Given the description of an element on the screen output the (x, y) to click on. 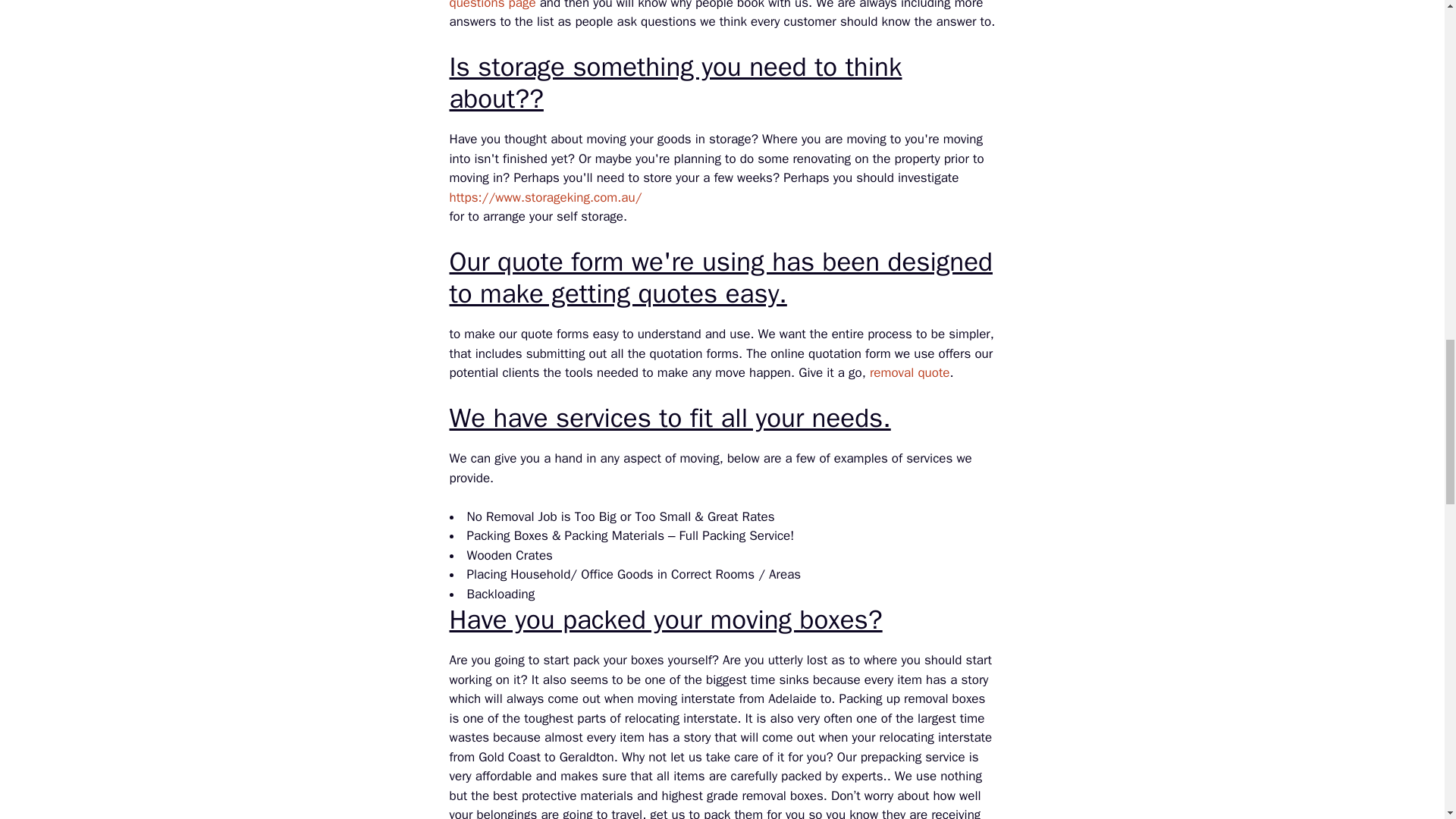
commonly asked questions page (719, 5)
removal quote (909, 372)
Self Storage (545, 197)
